Given the description of an element on the screen output the (x, y) to click on. 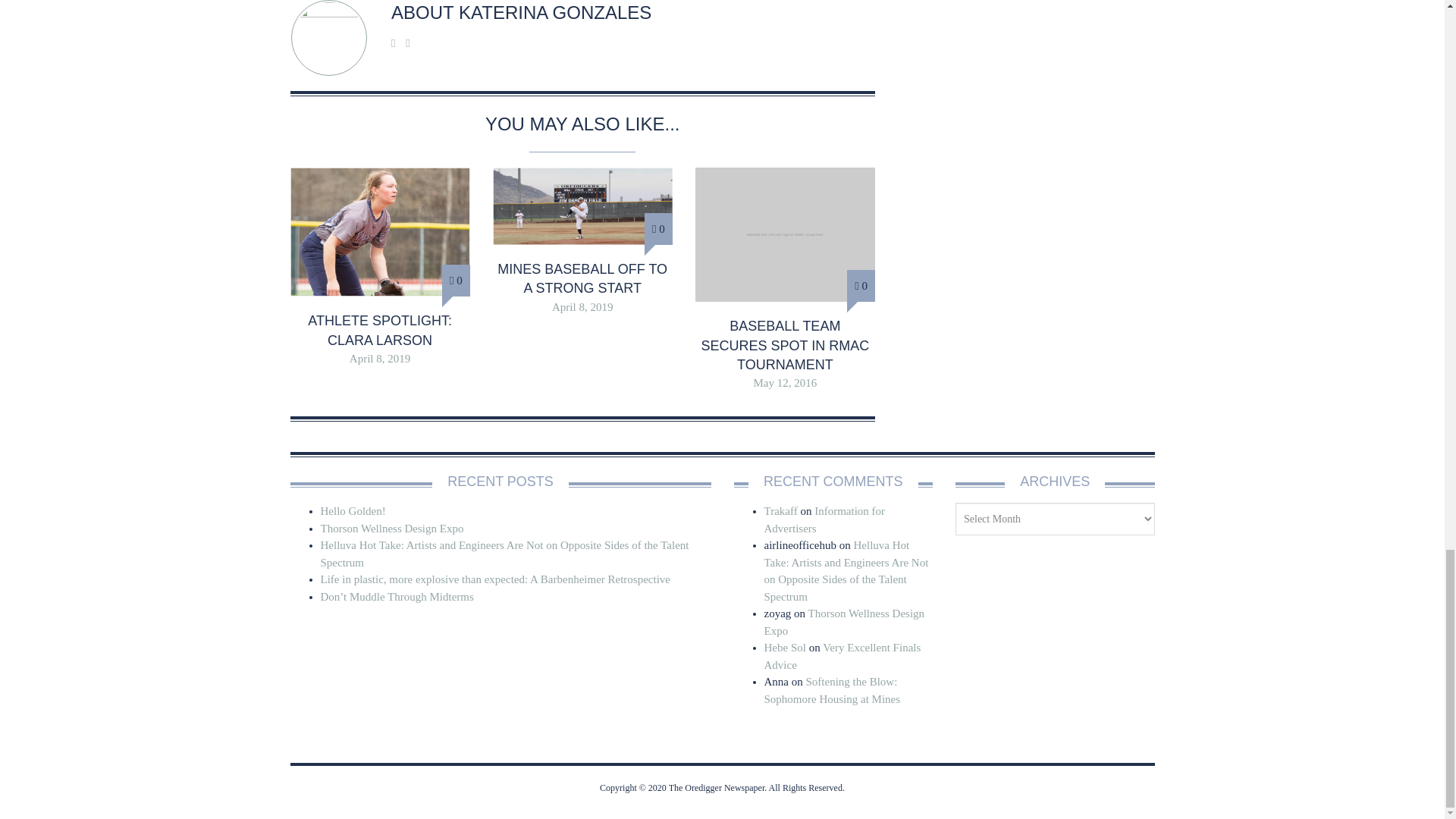
Posts by Katerina Gonzales (554, 12)
